Given the description of an element on the screen output the (x, y) to click on. 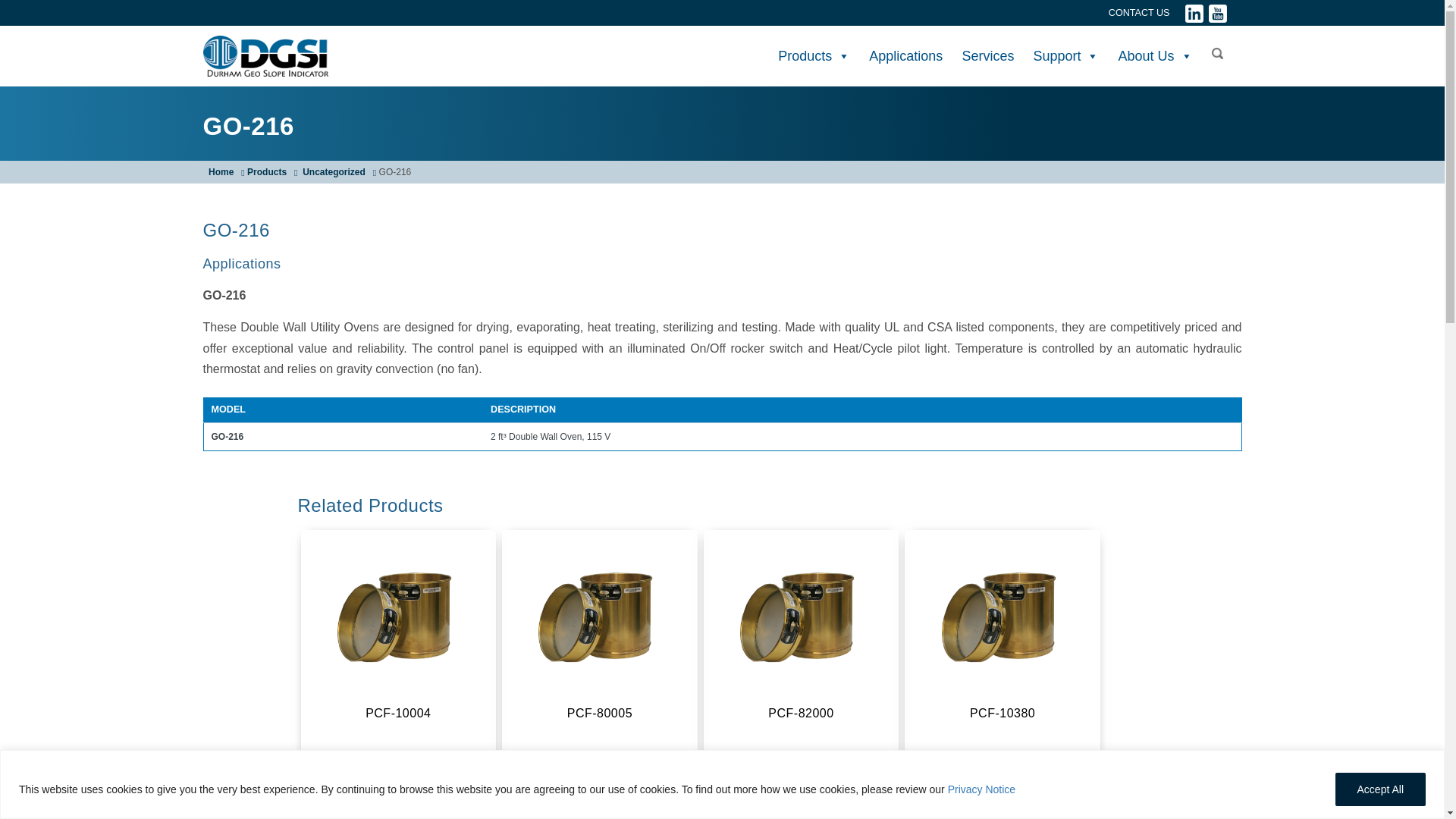
CONTACT US (1139, 12)
Privacy Notice (980, 788)
Accept All (1380, 788)
Products (813, 55)
DGSI -  (266, 56)
